Given the description of an element on the screen output the (x, y) to click on. 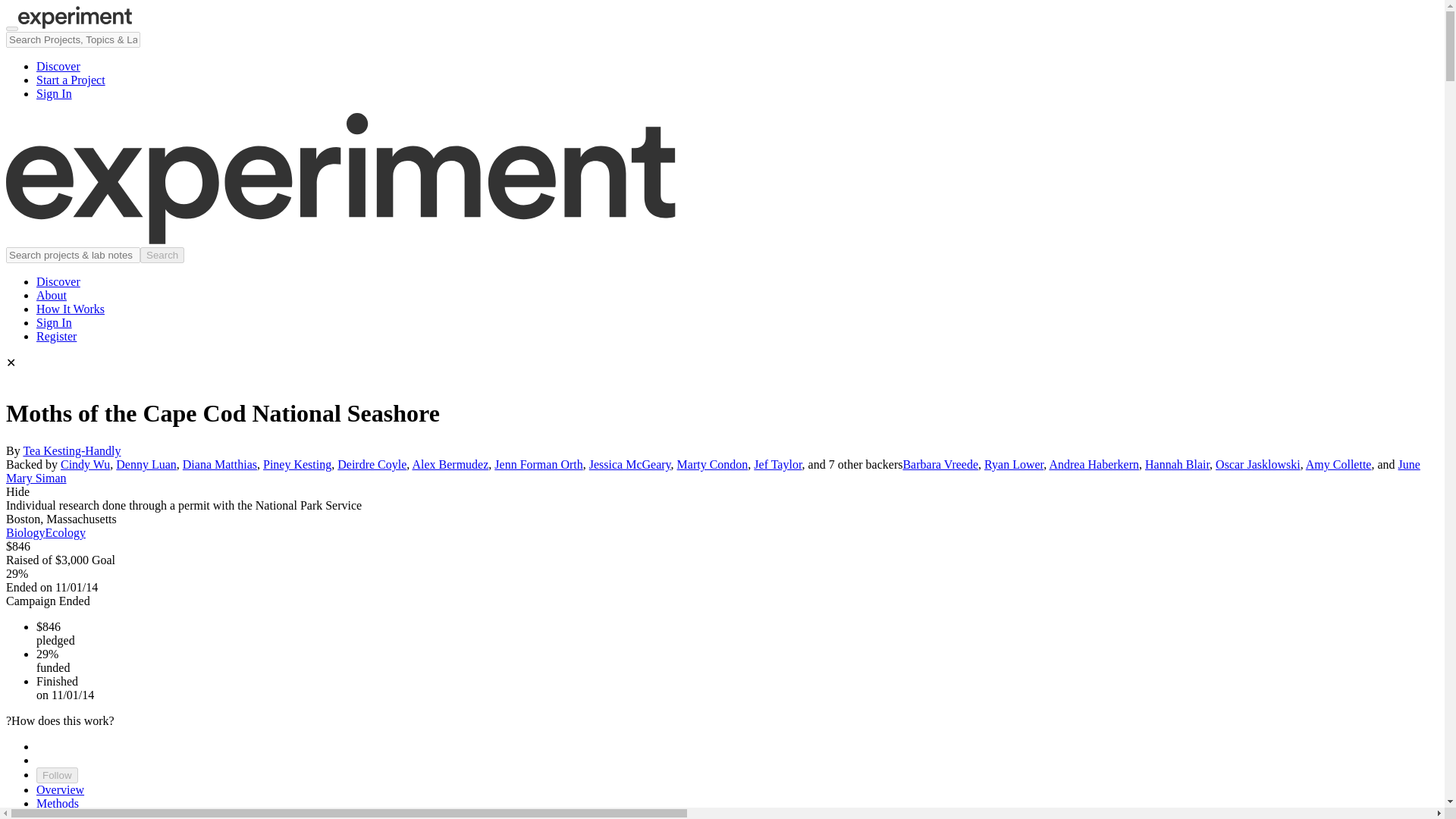
Sign In (53, 92)
Marty Condon (712, 463)
Deirdre Coyle (371, 463)
Jenn Forman Orth (538, 463)
Search (21, 7)
Jessica McGeary (630, 463)
Discover (58, 65)
Experiment Logo (74, 16)
Sign In (53, 322)
Experiment Logo (340, 239)
Follow (57, 774)
Piney Kesting (297, 463)
About (51, 295)
Jef Taylor (778, 463)
Experiment Logo (74, 24)
